Given the description of an element on the screen output the (x, y) to click on. 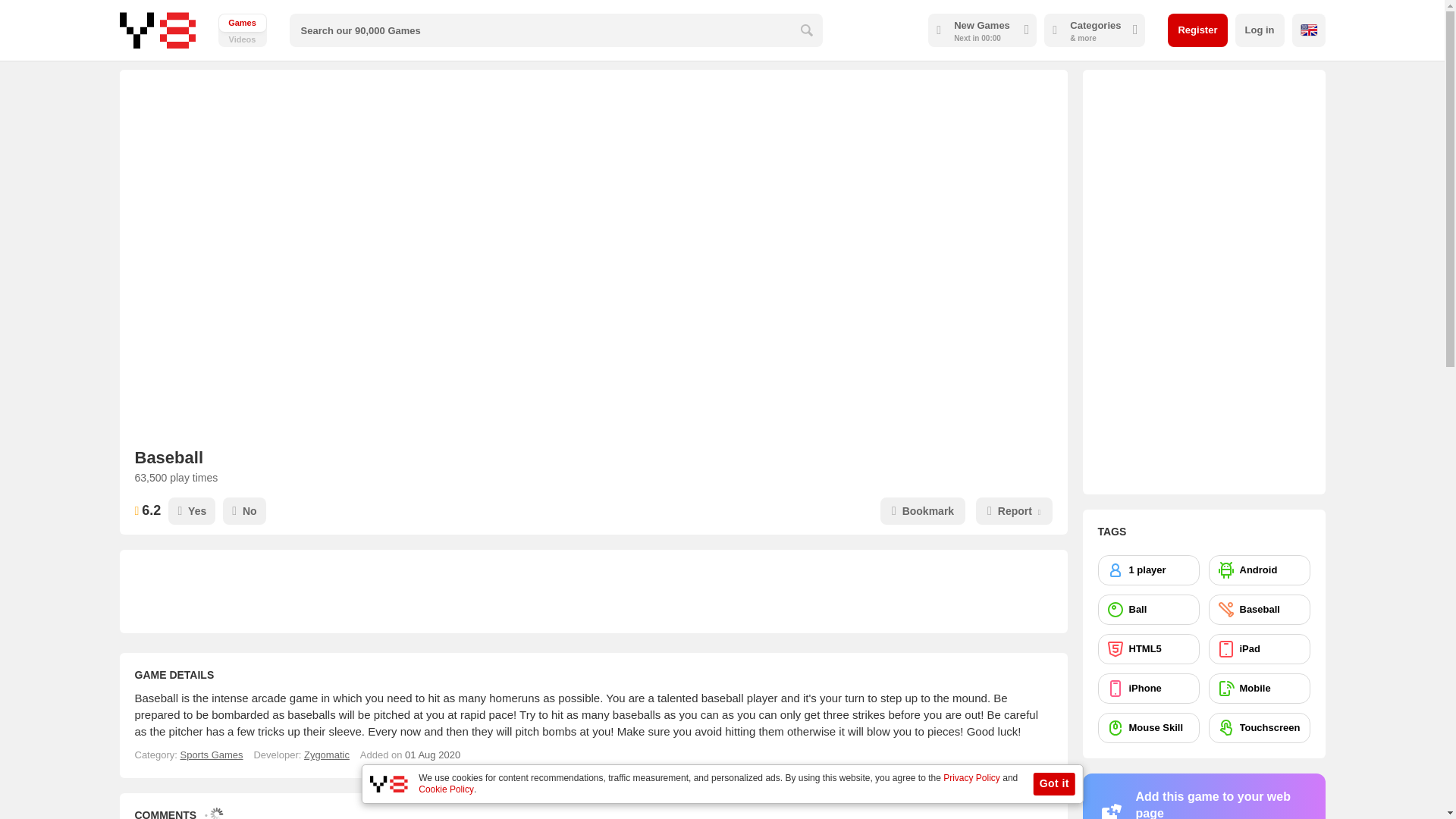
Register (1197, 29)
Mouse Skill (1148, 727)
Touchscreen (1259, 727)
Cookie Policy (446, 789)
HTML5 (1148, 648)
Sports (211, 754)
Ball (1148, 609)
iPhone (242, 29)
